Given the description of an element on the screen output the (x, y) to click on. 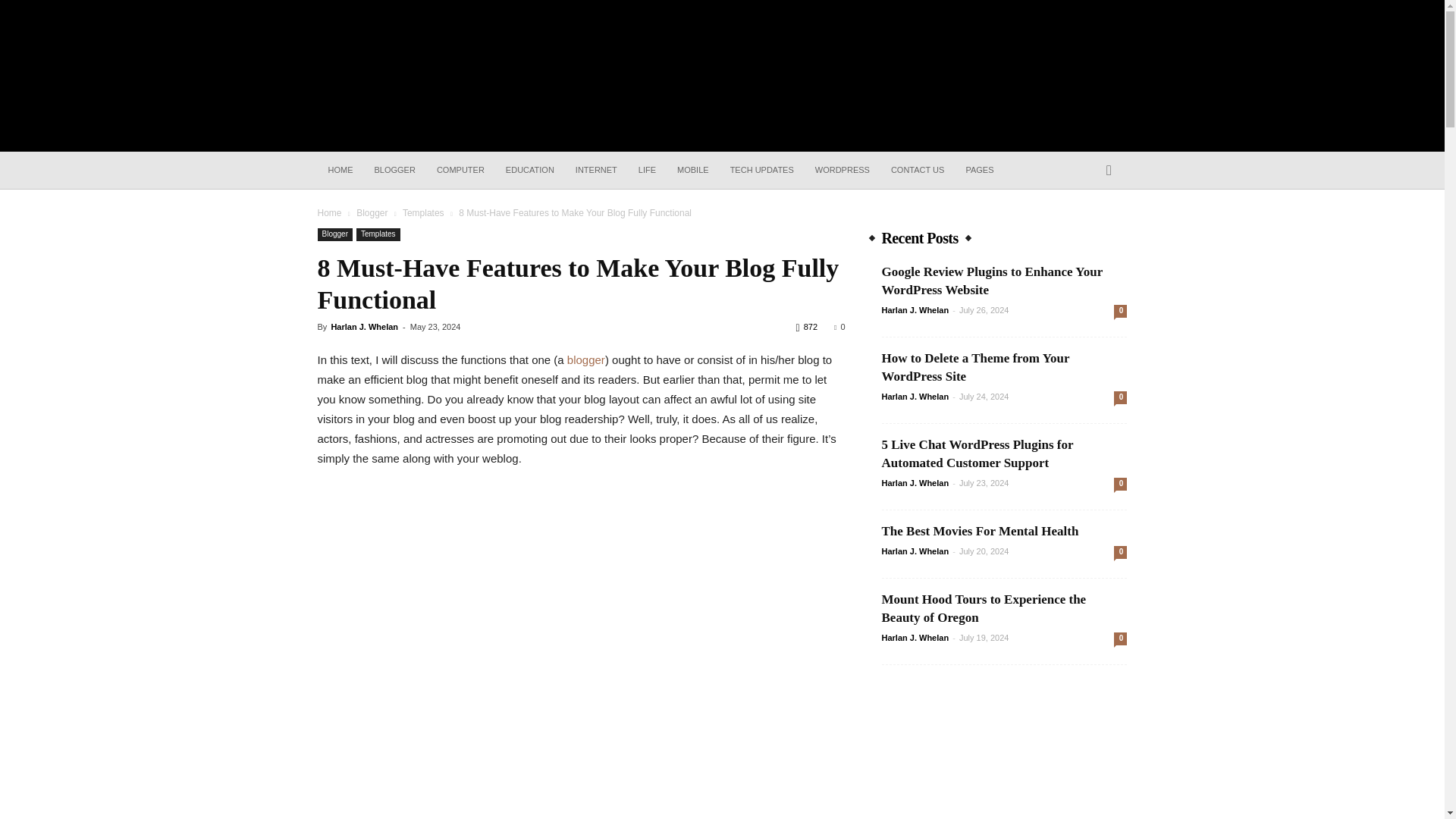
View all posts in Blogger (371, 213)
View all posts in Templates (423, 213)
